Given the description of an element on the screen output the (x, y) to click on. 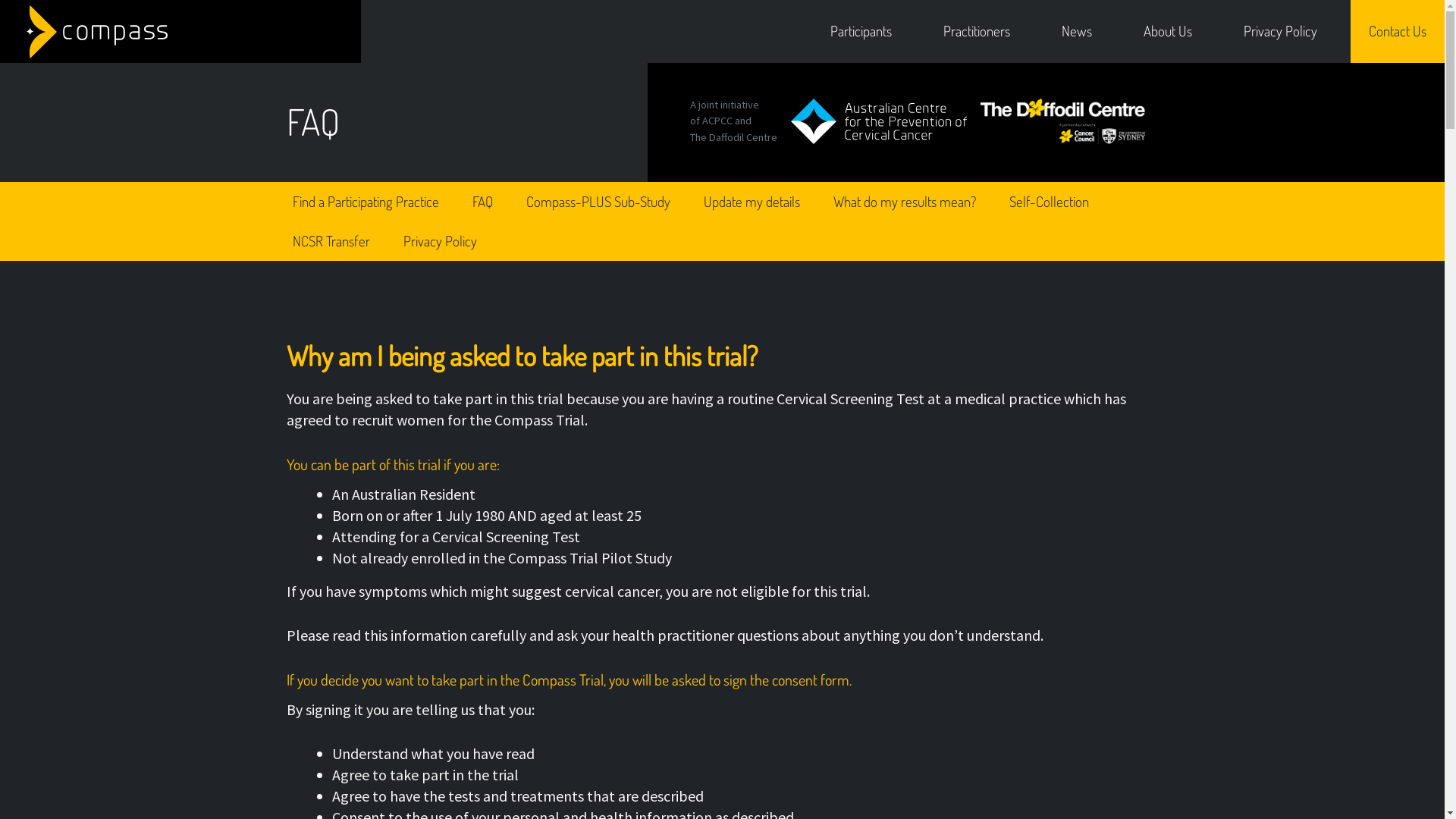
NCSR Transfer Element type: text (331, 240)
What do my results mean? Element type: text (903, 201)
Privacy Policy Element type: text (1280, 30)
About Us Element type: text (1167, 30)
Update my details Element type: text (751, 201)
FAQ
(current) Element type: text (481, 201)
Practitioners Element type: text (976, 30)
Participants Element type: text (861, 30)
Compass-PLUS Sub-Study Element type: text (598, 201)
Find a Participating Practice Element type: text (365, 201)
Contact Us Element type: text (1397, 30)
Self-Collection Element type: text (1048, 201)
News Element type: text (1076, 30)
Privacy Policy Element type: text (440, 240)
